Given the description of an element on the screen output the (x, y) to click on. 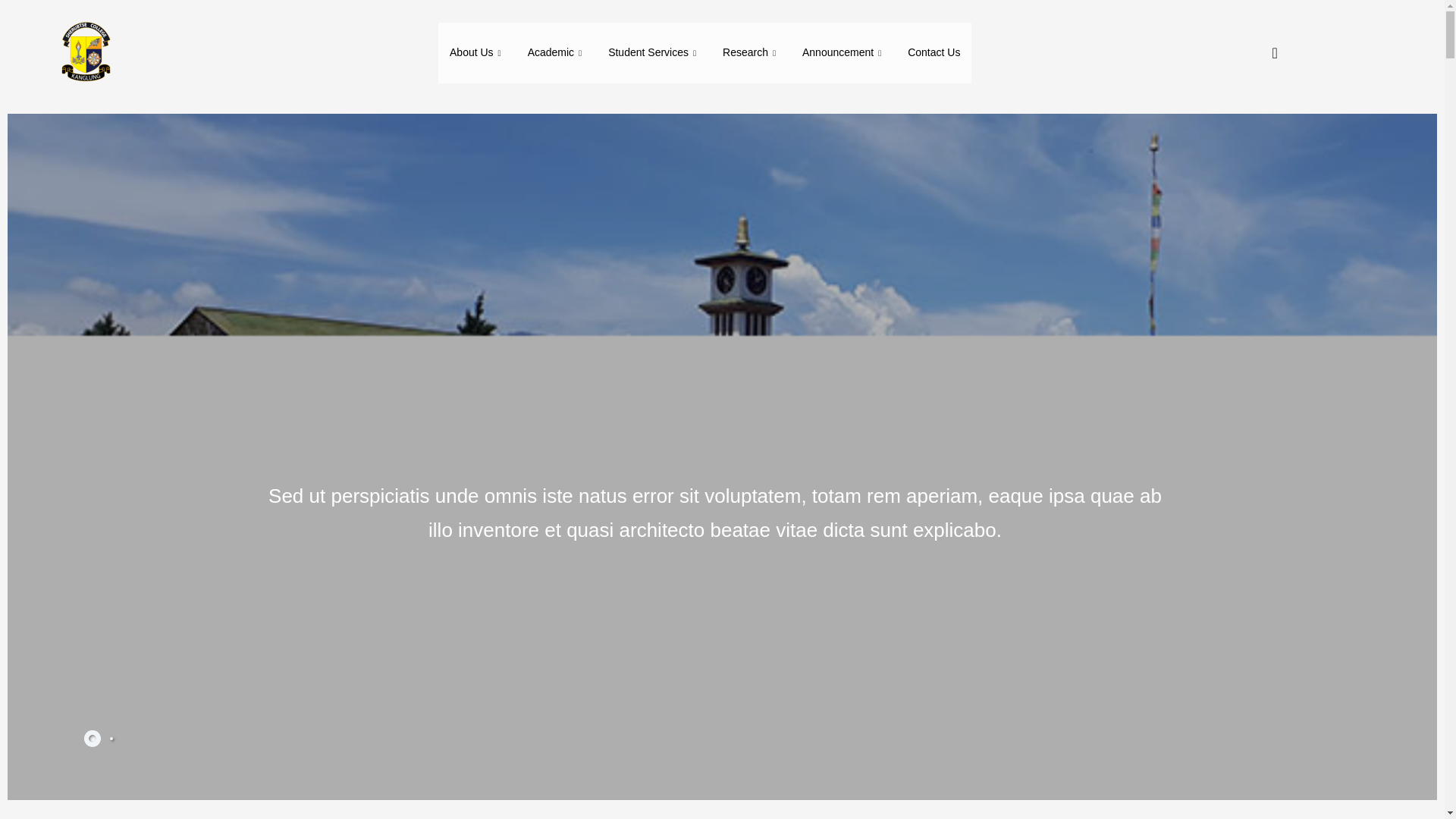
About Us (477, 52)
logo-removebg-preview-1 (84, 52)
Academic (556, 52)
Announcement (843, 52)
Contact Us (933, 52)
Research (750, 52)
Student Services (653, 52)
